Given the description of an element on the screen output the (x, y) to click on. 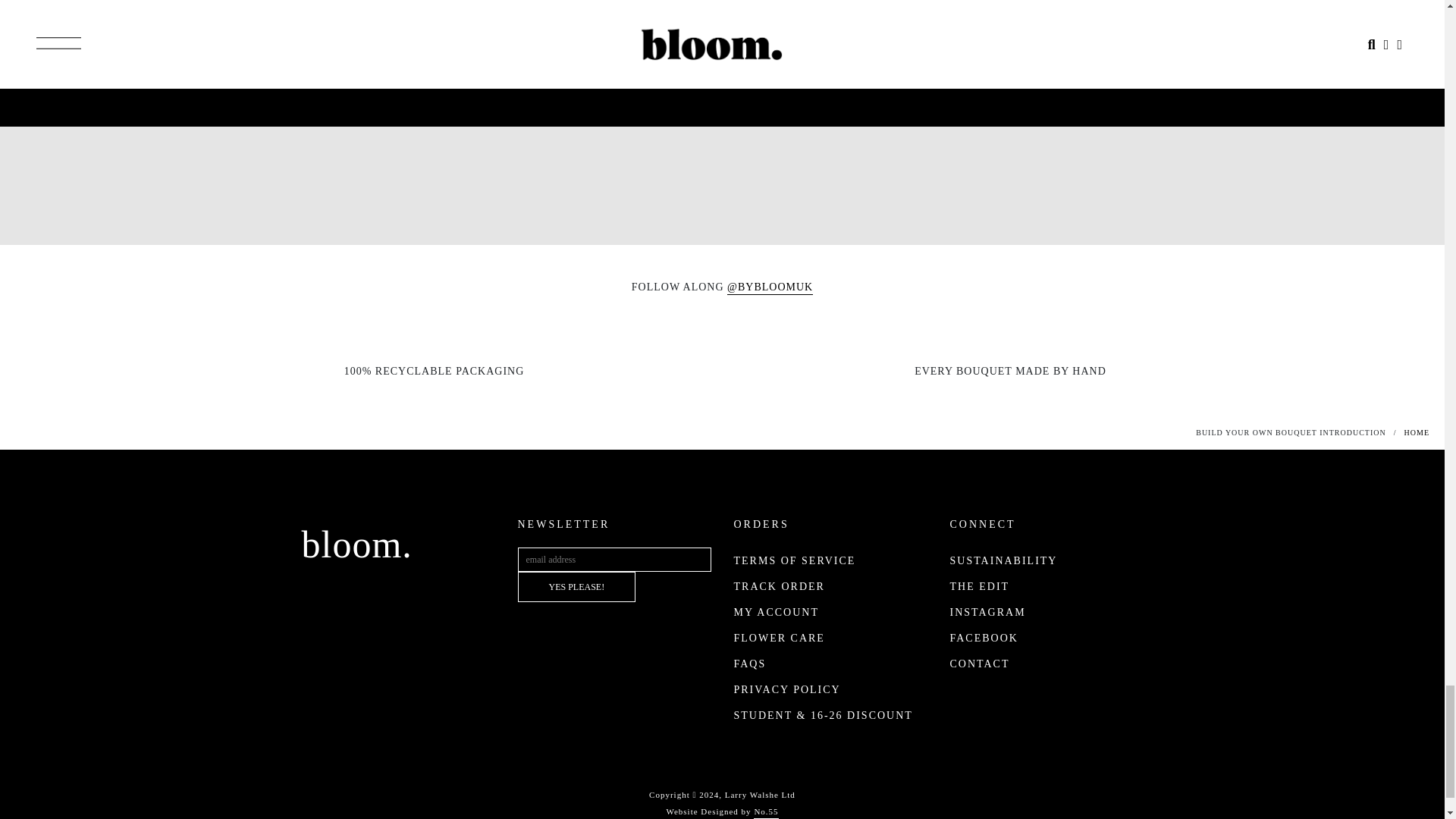
MY ACCOUNT (775, 612)
YES PLEASE! (575, 586)
YES PLEASE! (575, 586)
TERMS OF SERVICE (794, 560)
FAQS (721, 15)
FLOWER CARE (750, 663)
TRACK ORDER (779, 637)
HOME (779, 586)
PRIVACY POLICY (1417, 432)
